Given the description of an element on the screen output the (x, y) to click on. 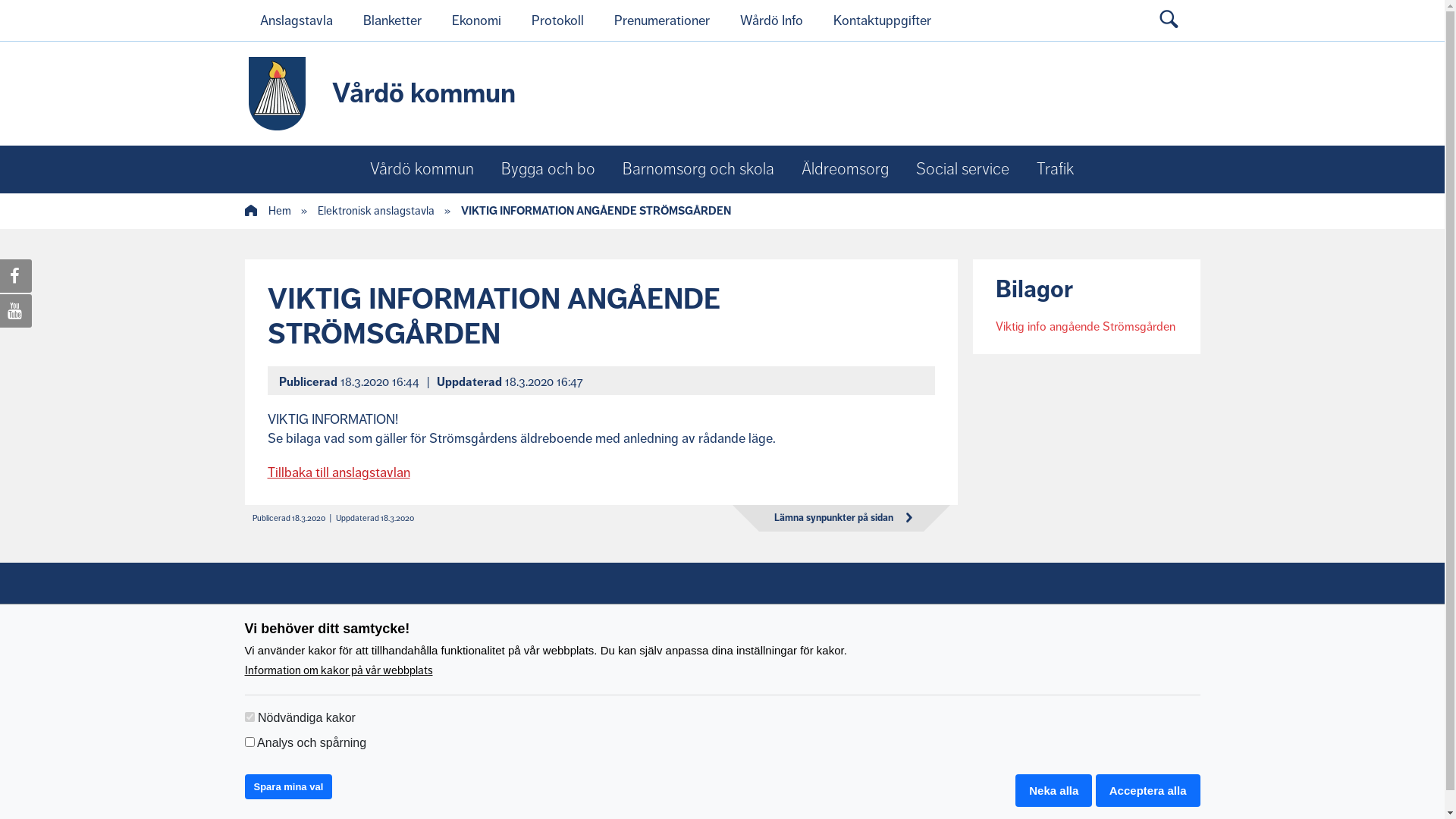
Anslagstavla Element type: text (295, 20)
Protokoll Element type: text (556, 20)
Elektronisk anslagstavla Element type: text (374, 210)
Trafik Element type: text (1055, 169)
Tillbaka till anslagstavlan Element type: text (337, 472)
Spara mina val Element type: text (288, 786)
Prenumerationer Element type: text (661, 20)
info@vardo.ax Element type: text (348, 732)
Blanketter Element type: text (391, 20)
Acceptera alla Element type: text (1147, 790)
Ekonomi Element type: text (476, 20)
Kontaktuppgifter Element type: text (881, 20)
Social service Element type: text (962, 169)
Barnomsorg och skola Element type: text (698, 169)
+358 (0)18 47900 Element type: text (335, 755)
Hem Element type: text (267, 210)
Neka alla Element type: text (1053, 790)
Bygga och bo Element type: text (548, 169)
